Given the description of an element on the screen output the (x, y) to click on. 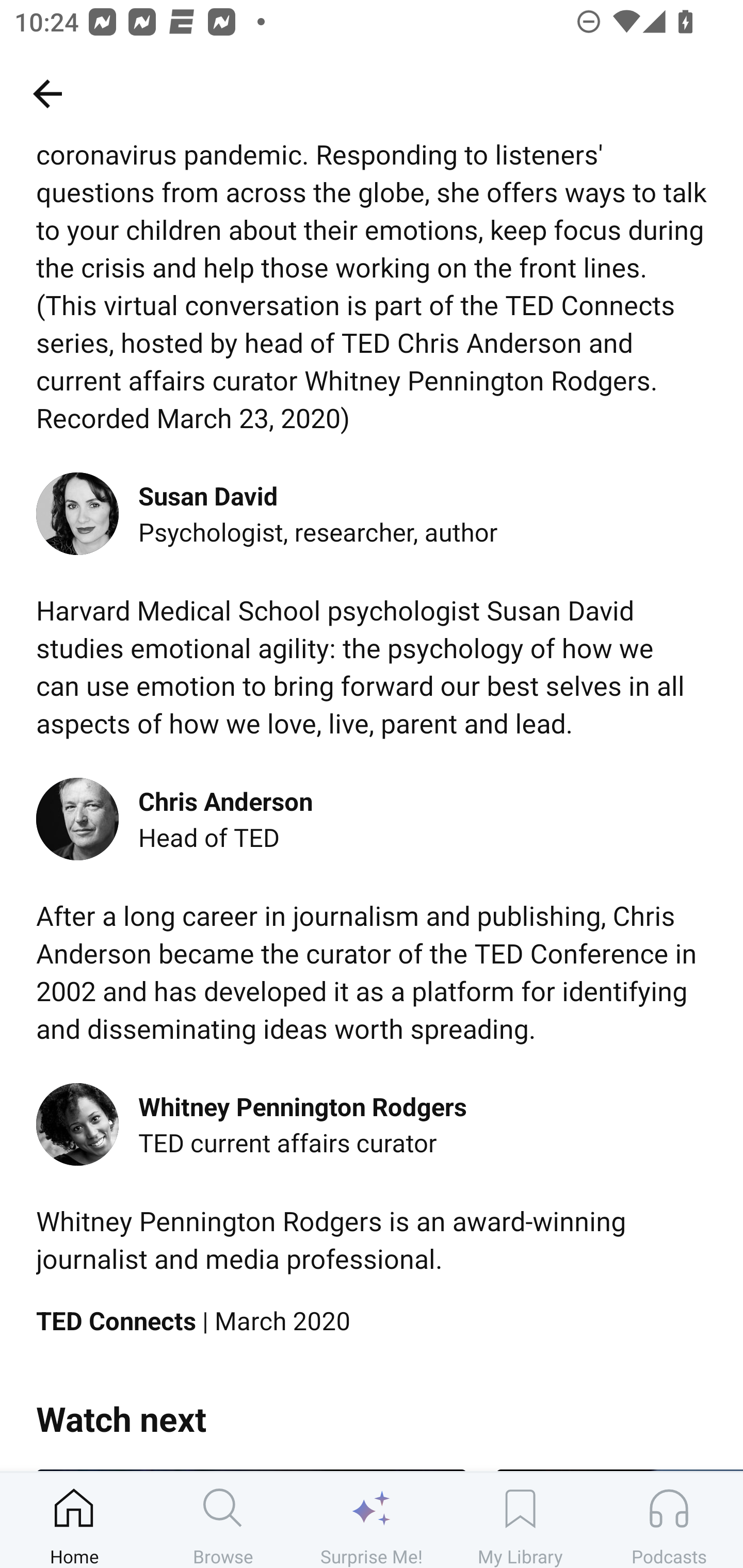
Go back (47, 92)
Home (74, 1520)
Browse (222, 1520)
Surprise Me! (371, 1520)
My Library (519, 1520)
Podcasts (668, 1520)
